Given the description of an element on the screen output the (x, y) to click on. 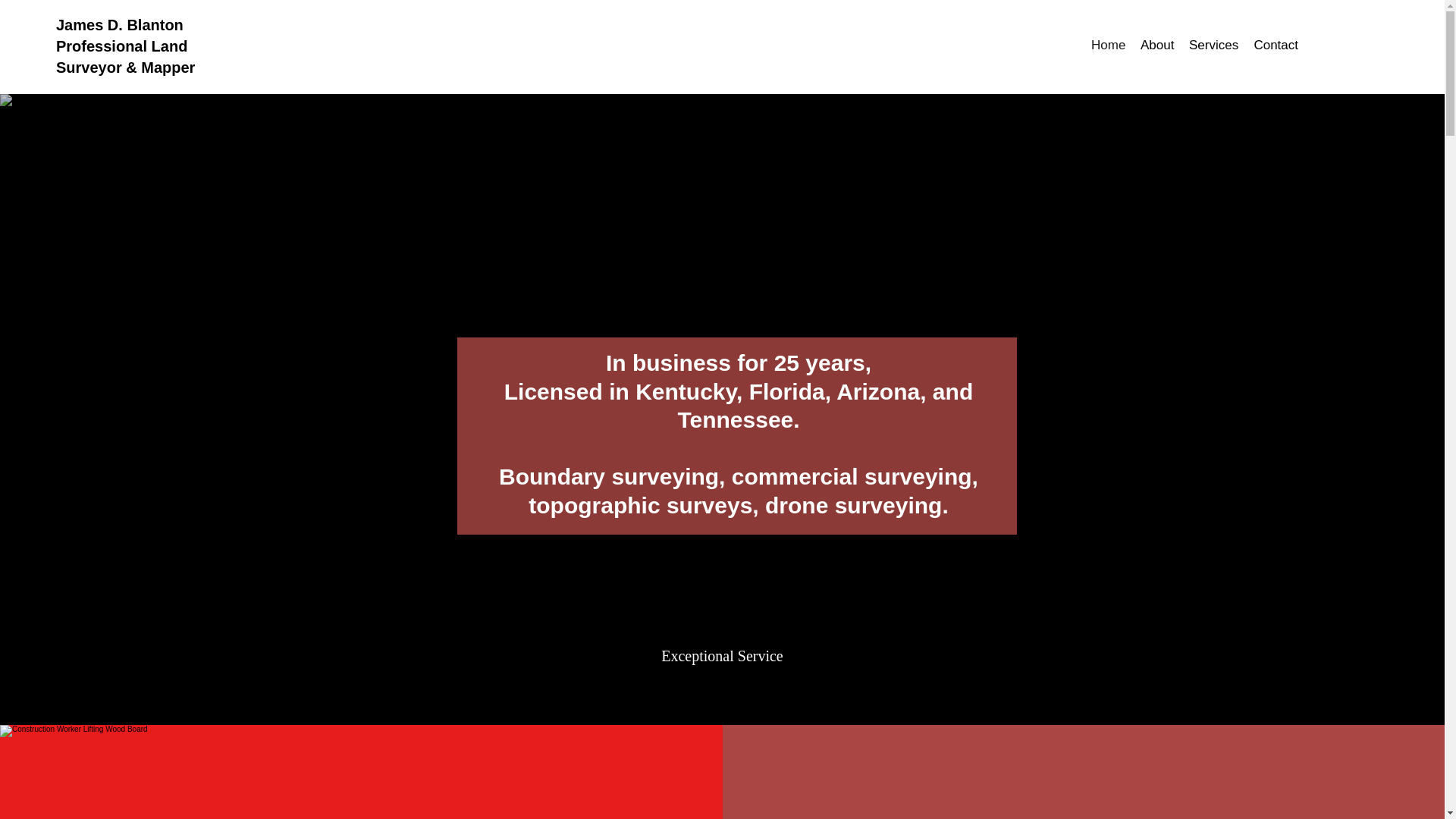
About (1156, 45)
Services (1213, 45)
Contact (1276, 45)
Home (1107, 45)
